Given the description of an element on the screen output the (x, y) to click on. 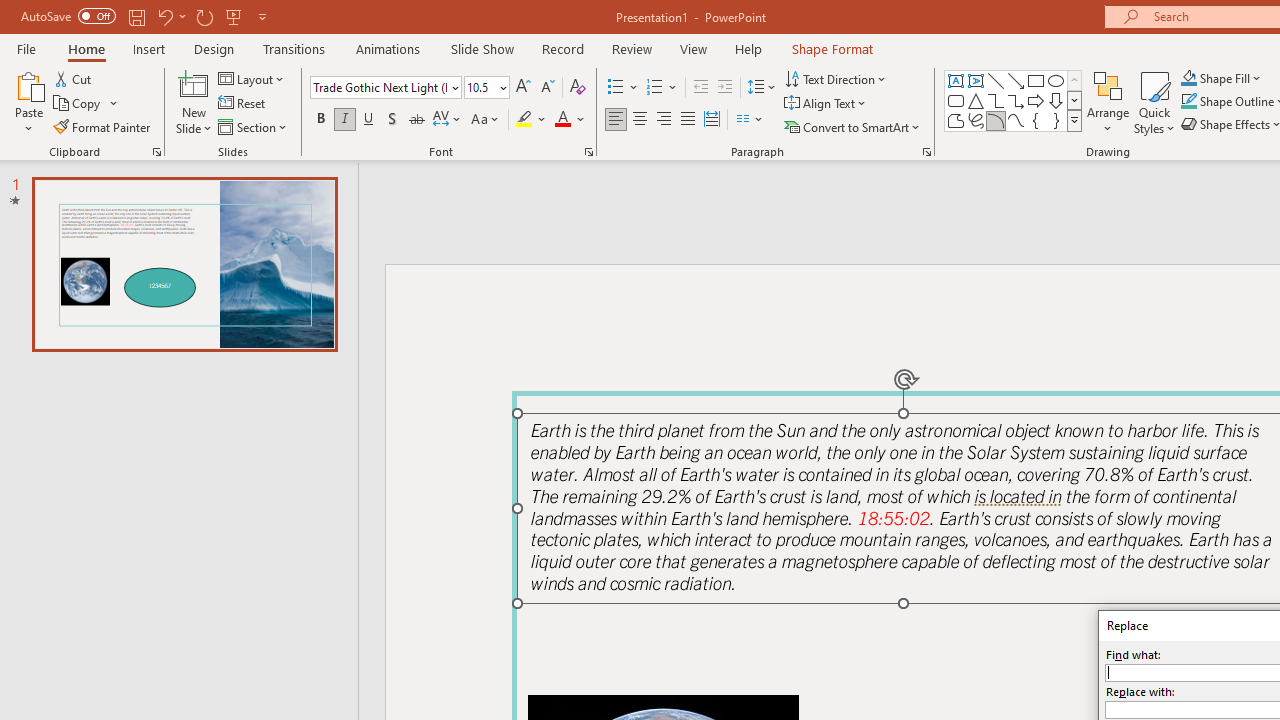
Font Color Red (562, 119)
Connector: Elbow (995, 100)
Left Brace (1035, 120)
Font... (588, 151)
Shadow (392, 119)
Center (639, 119)
Oval (1055, 80)
Line Arrow (1016, 80)
Justify (687, 119)
Align Left (616, 119)
Line (995, 80)
Distributed (712, 119)
